Given the description of an element on the screen output the (x, y) to click on. 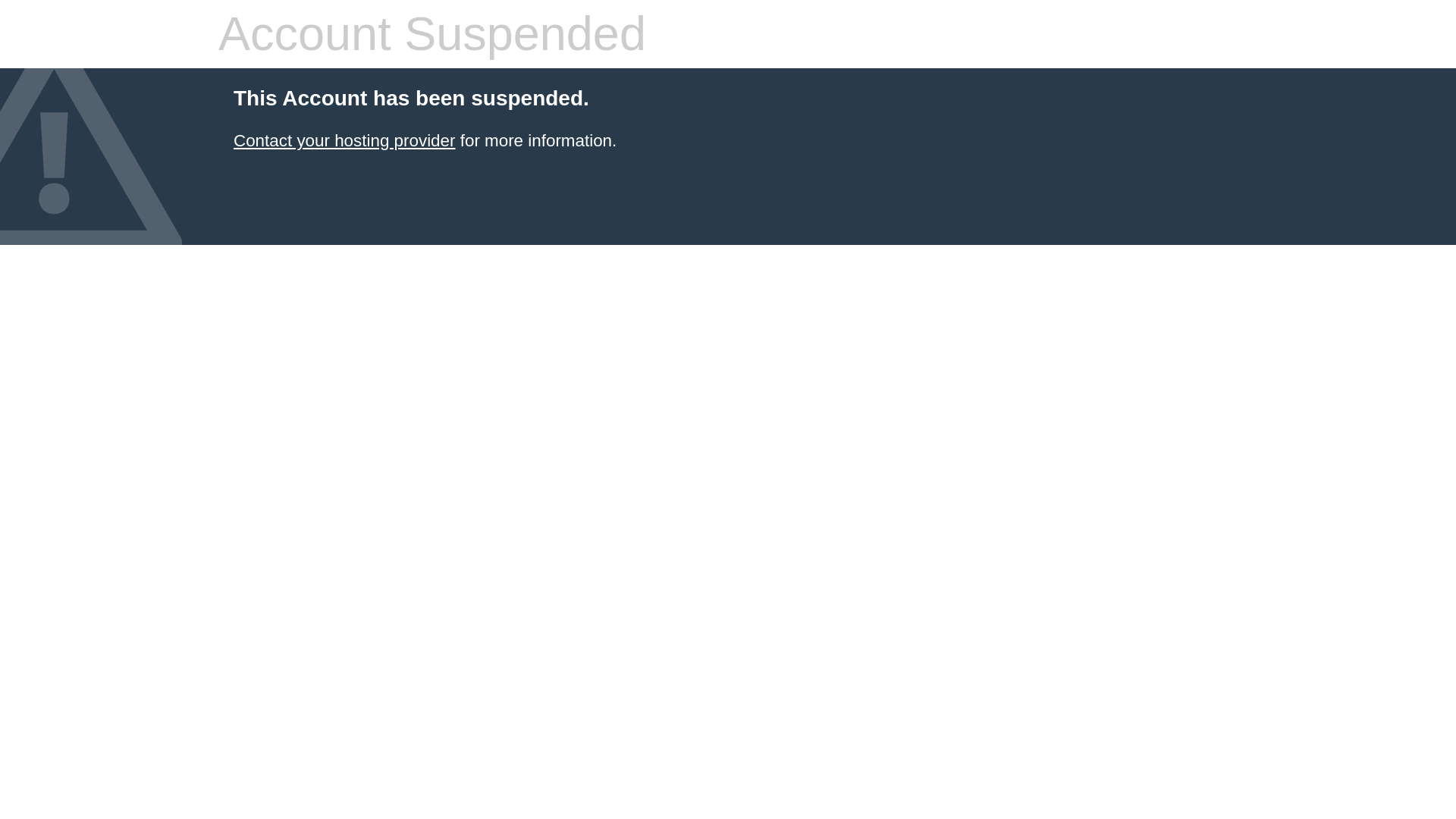
Contact your hosting provider (343, 140)
